Given the description of an element on the screen output the (x, y) to click on. 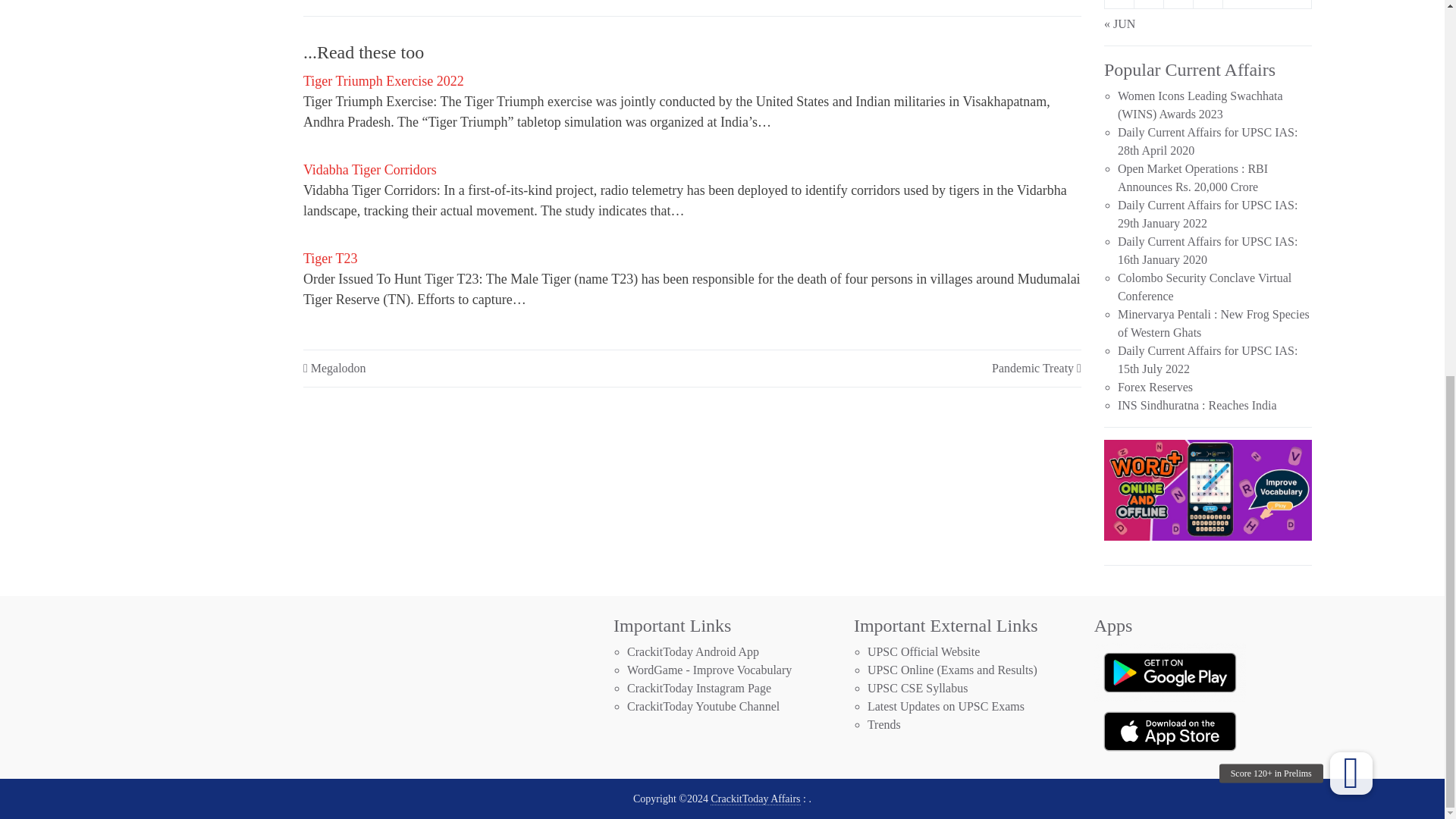
Tiger T23 (330, 260)
Pandemic Treaty (1032, 367)
Megalodon (338, 367)
Vidabha Tiger Corridors (369, 171)
Tiger Triumph Exercise 2022 (383, 82)
